Given the description of an element on the screen output the (x, y) to click on. 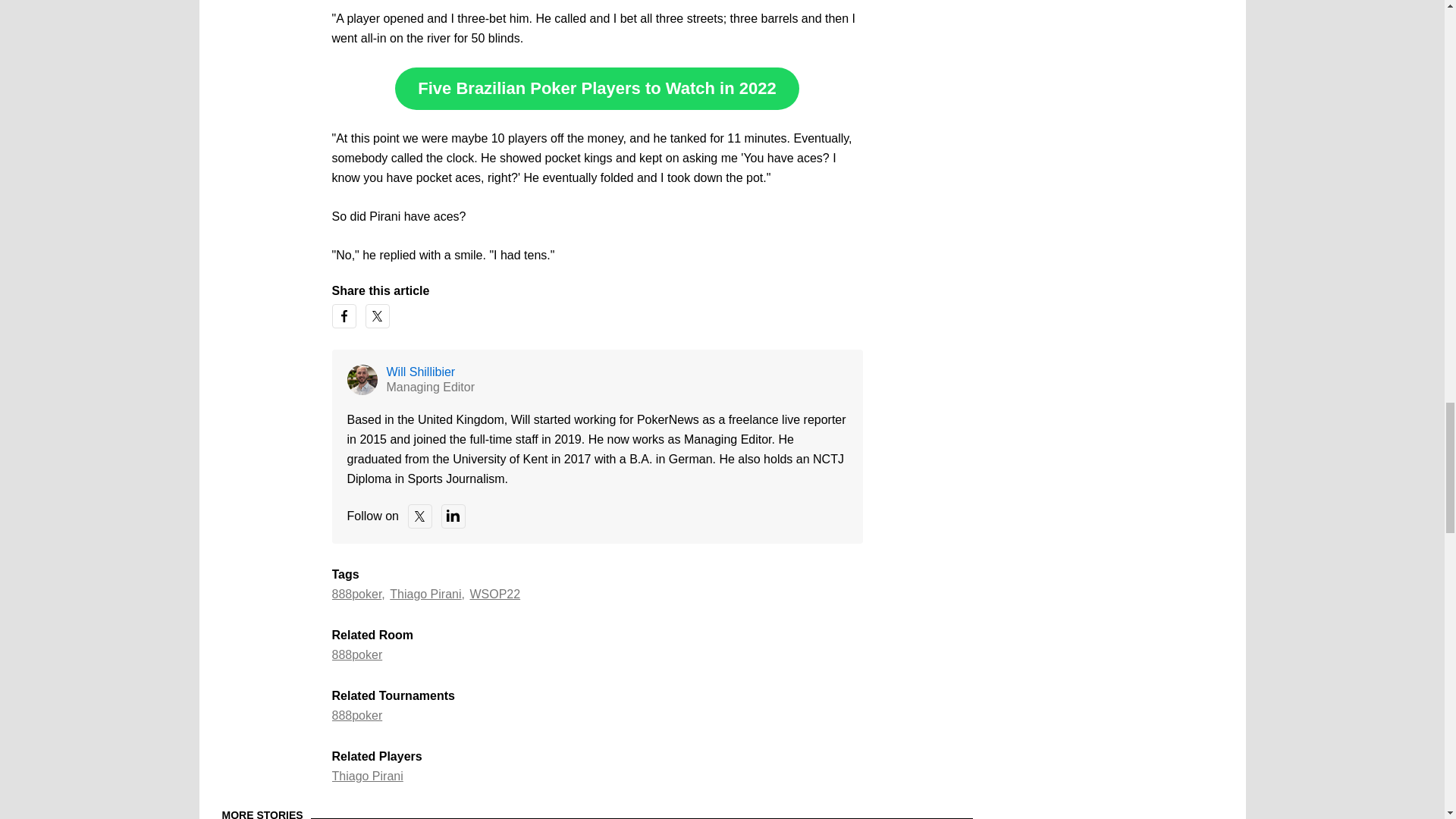
Twitter (419, 515)
Share this on Facebook (343, 315)
Linkedin (453, 515)
Tweet this (377, 315)
